Given the description of an element on the screen output the (x, y) to click on. 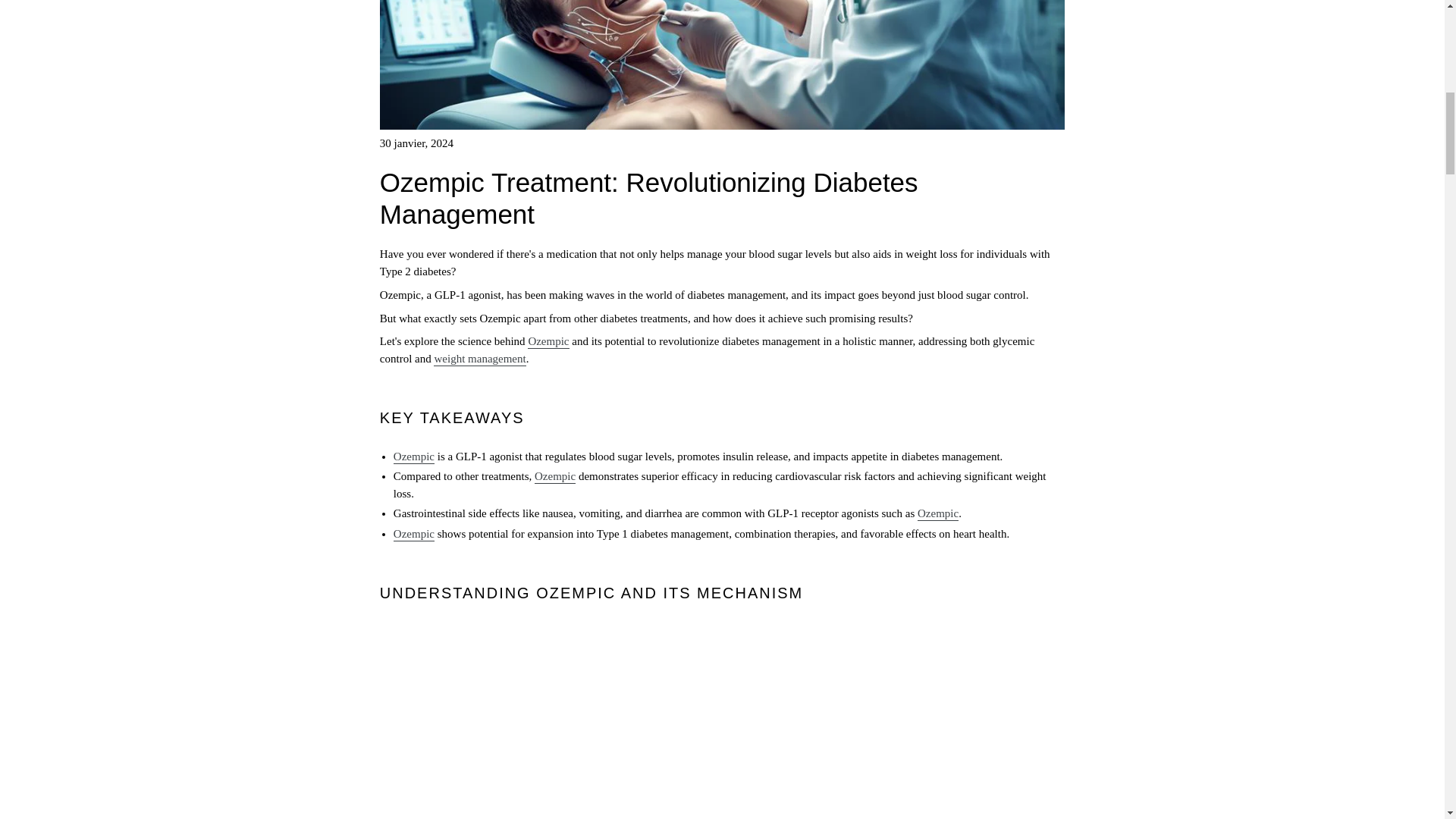
Ozempic (413, 457)
Ozempic (554, 477)
Ozempic (548, 341)
YouTube video player (722, 721)
weight management (479, 359)
Ozempic (937, 513)
Ozempic (413, 534)
